Given the description of an element on the screen output the (x, y) to click on. 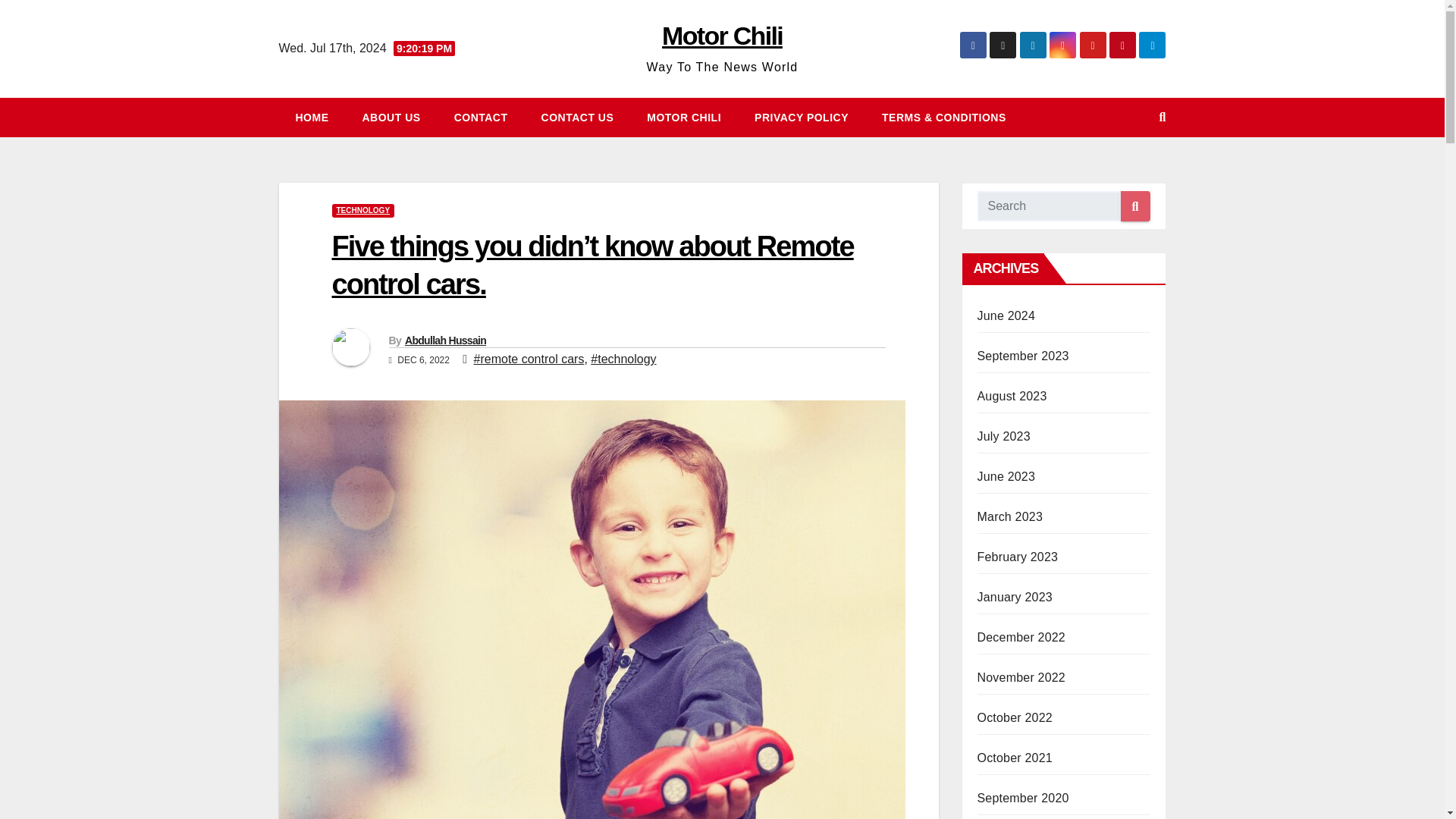
TECHNOLOGY (362, 210)
MOTOR CHILI (684, 117)
CONTACT (481, 117)
Motor Chili (722, 35)
CONTACT US (577, 117)
Abdullah Hussain (445, 340)
HOME (312, 117)
Home (312, 117)
PRIVACY POLICY (801, 117)
ABOUT US (392, 117)
